Given the description of an element on the screen output the (x, y) to click on. 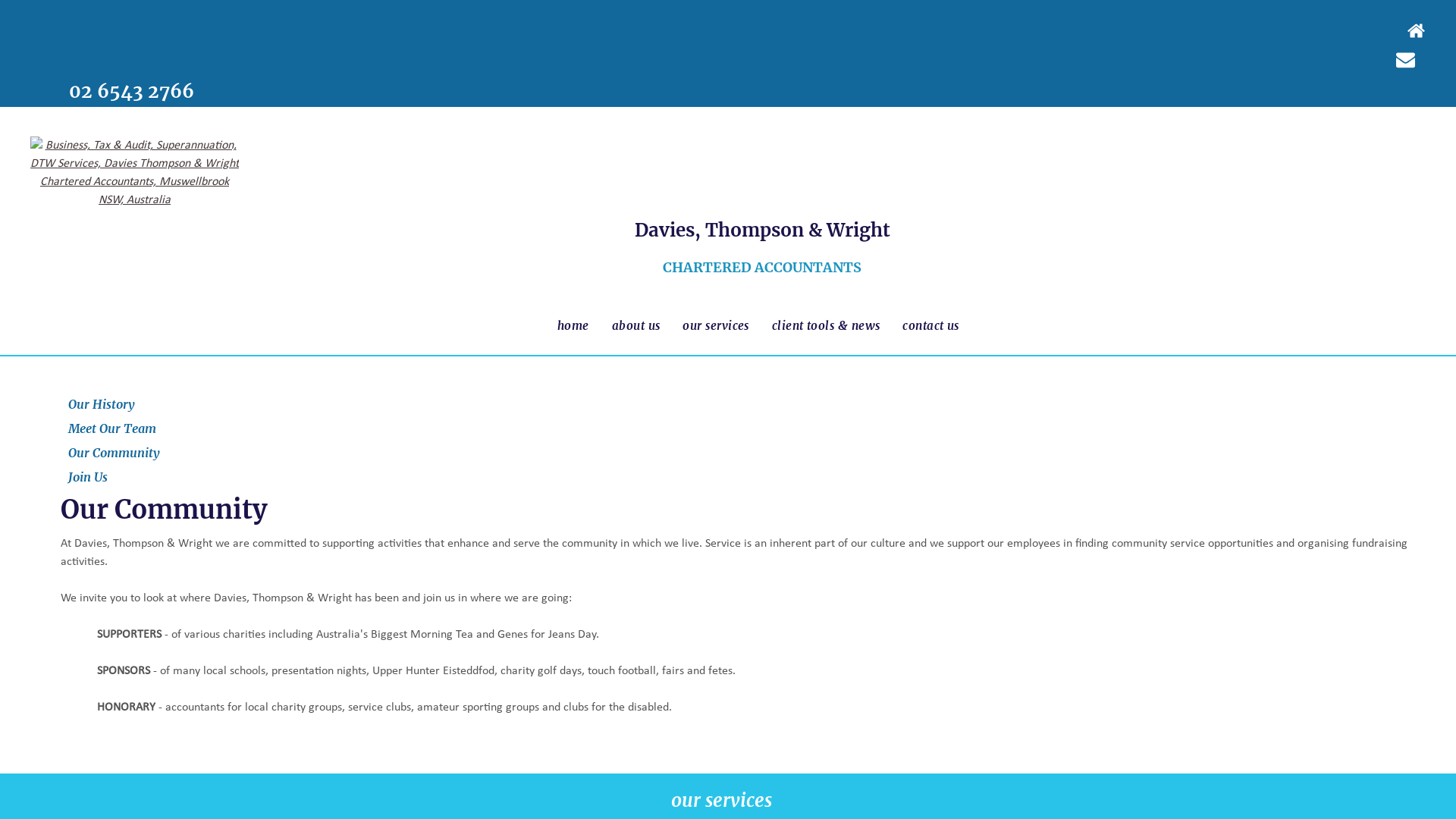
client tools & news Element type: text (826, 325)
Our History Element type: text (101, 403)
our services Element type: text (715, 325)
about us Element type: text (636, 325)
contact us Element type: text (930, 325)
02 6543 2766 Element type: text (131, 91)
Our Community Element type: text (114, 452)
our services Element type: text (720, 800)
Join Us Element type: text (87, 476)
Meet Our Team Element type: text (112, 428)
home Element type: text (572, 325)
